Given the description of an element on the screen output the (x, y) to click on. 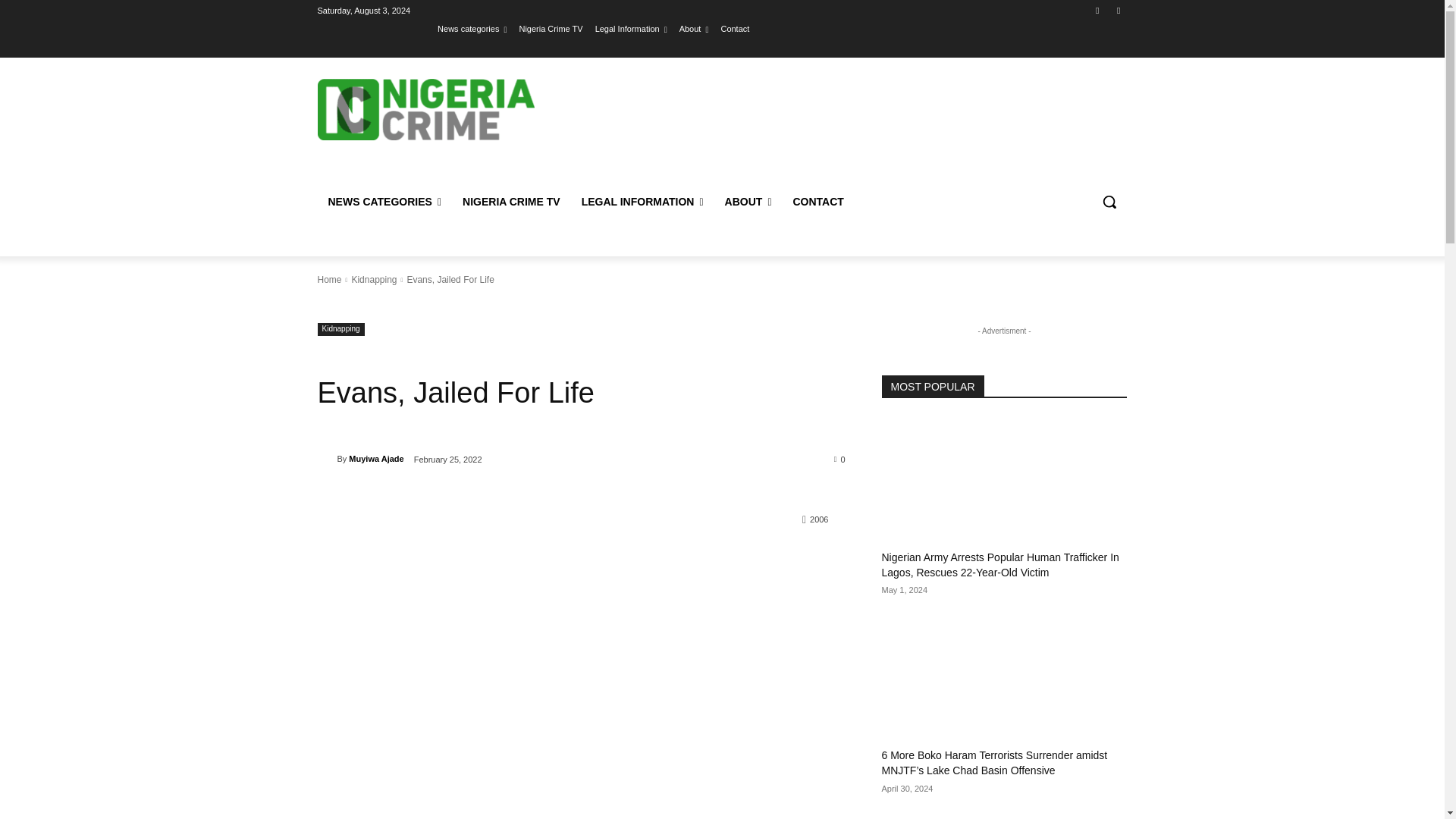
Muyiwa Ajade (326, 458)
News categories (472, 28)
Instagram (1117, 9)
Nigeriacrime.com (425, 109)
Facebook (1097, 9)
View all posts in Kidnapping (373, 279)
